Given the description of an element on the screen output the (x, y) to click on. 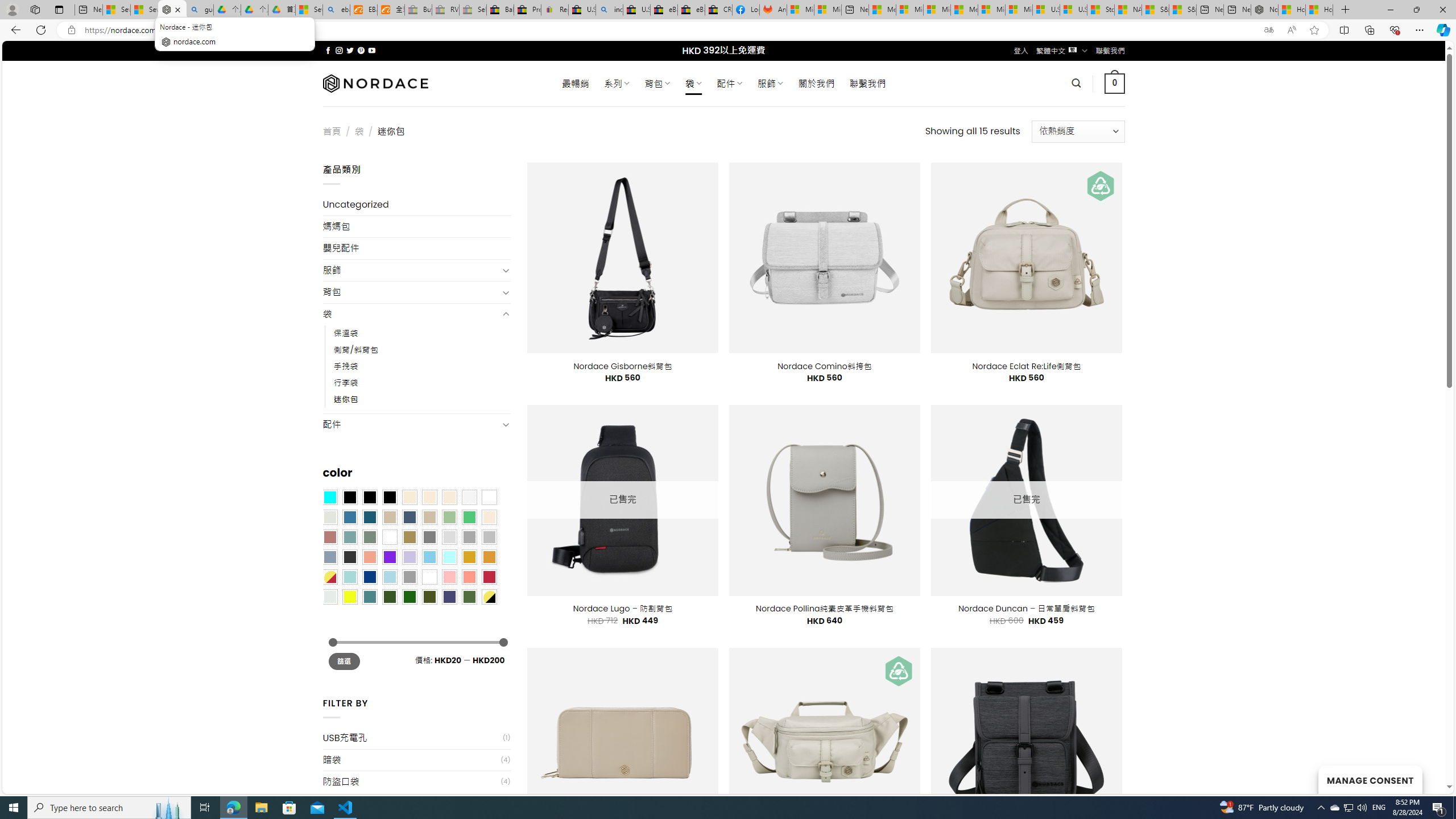
Buy Auto Parts & Accessories | eBay - Sleeping (418, 9)
Dull Nickle (329, 596)
including - Search (609, 9)
